Given the description of an element on the screen output the (x, y) to click on. 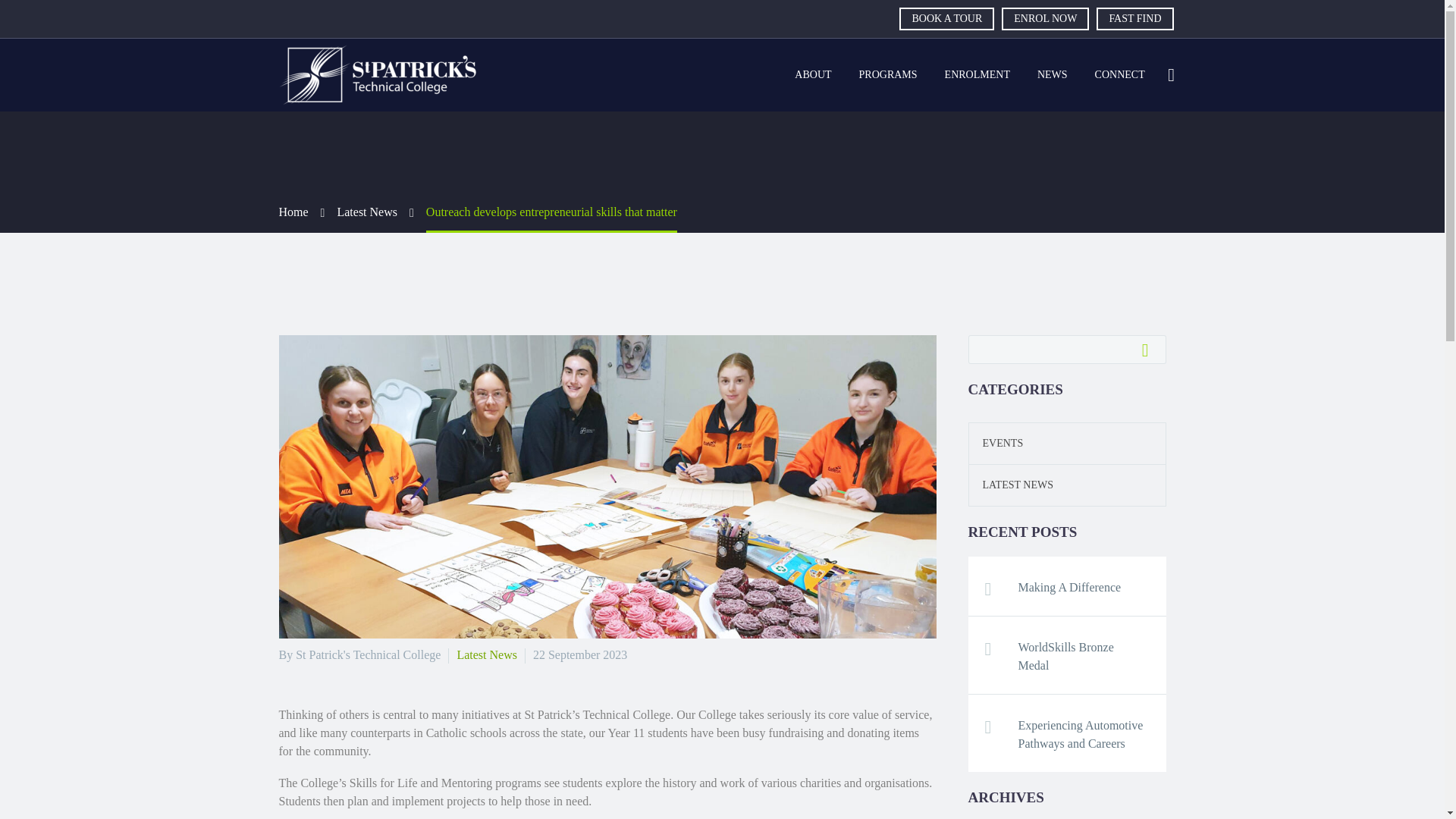
View all posts filed under Events (996, 442)
NEWS (1052, 74)
ENROL NOW (1045, 18)
PROGRAMS (887, 74)
FAST FIND (1134, 18)
ABOUT (813, 74)
View all posts filed under Latest News (1010, 484)
ENROLMENT (977, 74)
BOOK A TOUR (946, 18)
View all posts in Latest News (486, 654)
